Given the description of an element on the screen output the (x, y) to click on. 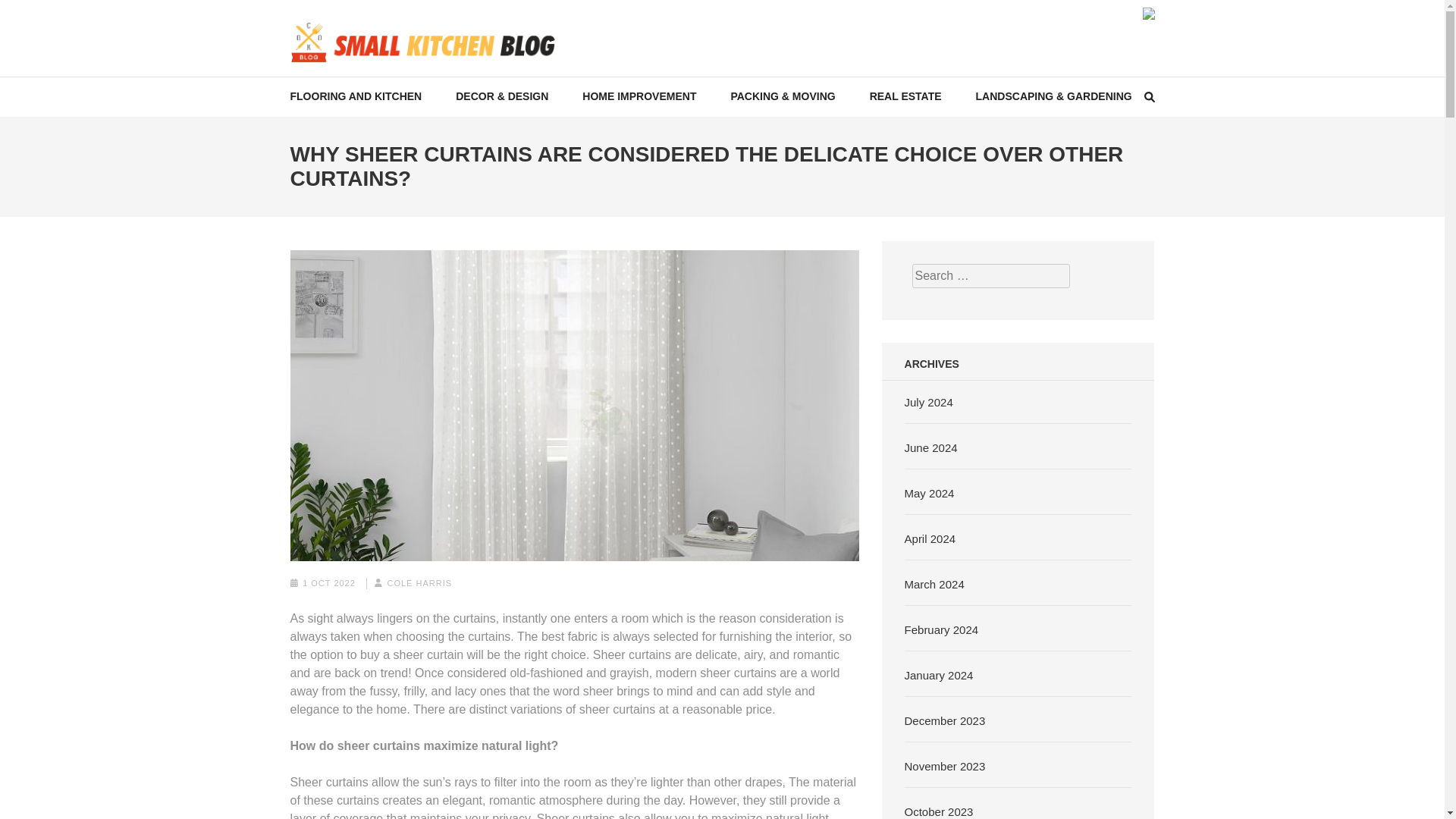
SMALL KITCHEN BLOG (443, 79)
Search (1428, 19)
May 2024 (929, 492)
FLOORING AND KITCHEN (355, 96)
COLE HARRIS (419, 583)
June 2024 (931, 447)
July 2024 (928, 401)
1 OCT 2022 (328, 583)
HOME IMPROVEMENT (638, 96)
REAL ESTATE (905, 96)
